Given the description of an element on the screen output the (x, y) to click on. 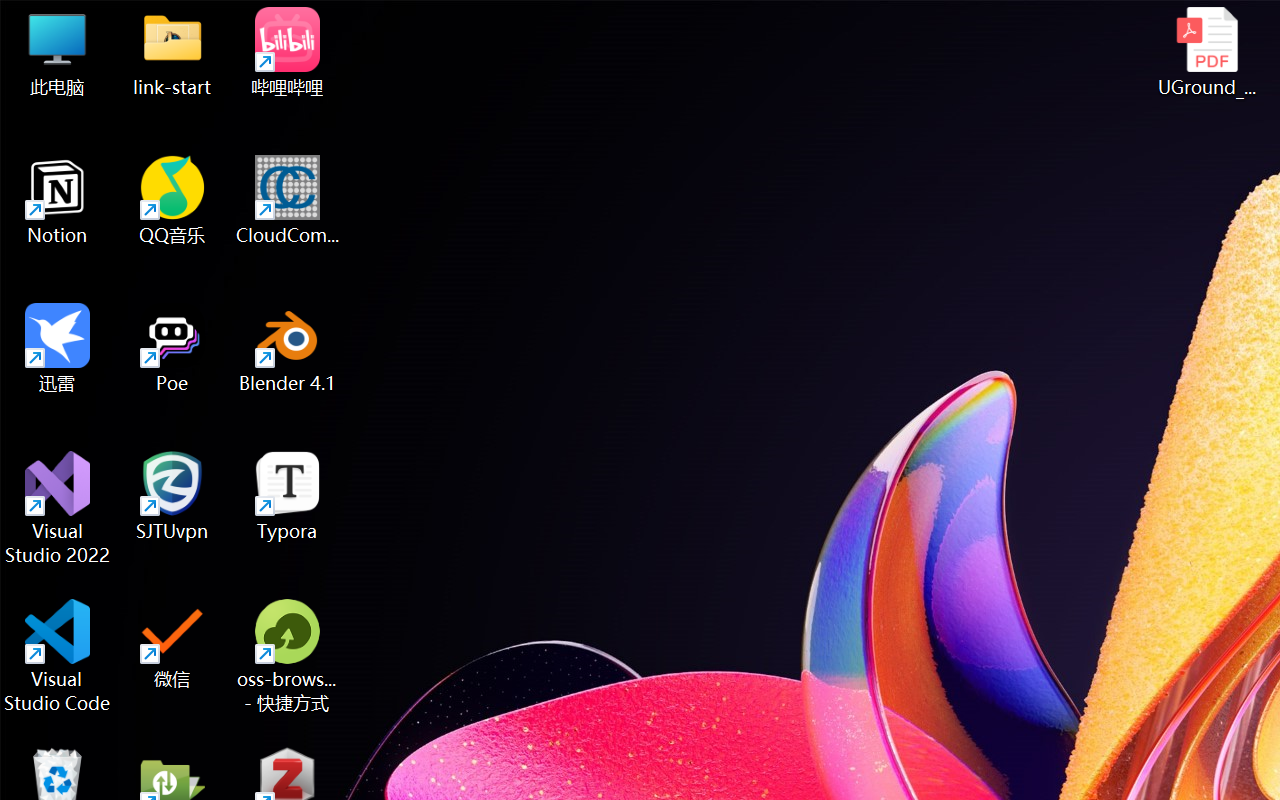
UGround_paper.pdf (1206, 52)
Visual Studio 2022 (57, 508)
SJTUvpn (172, 496)
Visual Studio Code (57, 656)
Typora (287, 496)
Blender 4.1 (287, 348)
CloudCompare (287, 200)
